Given the description of an element on the screen output the (x, y) to click on. 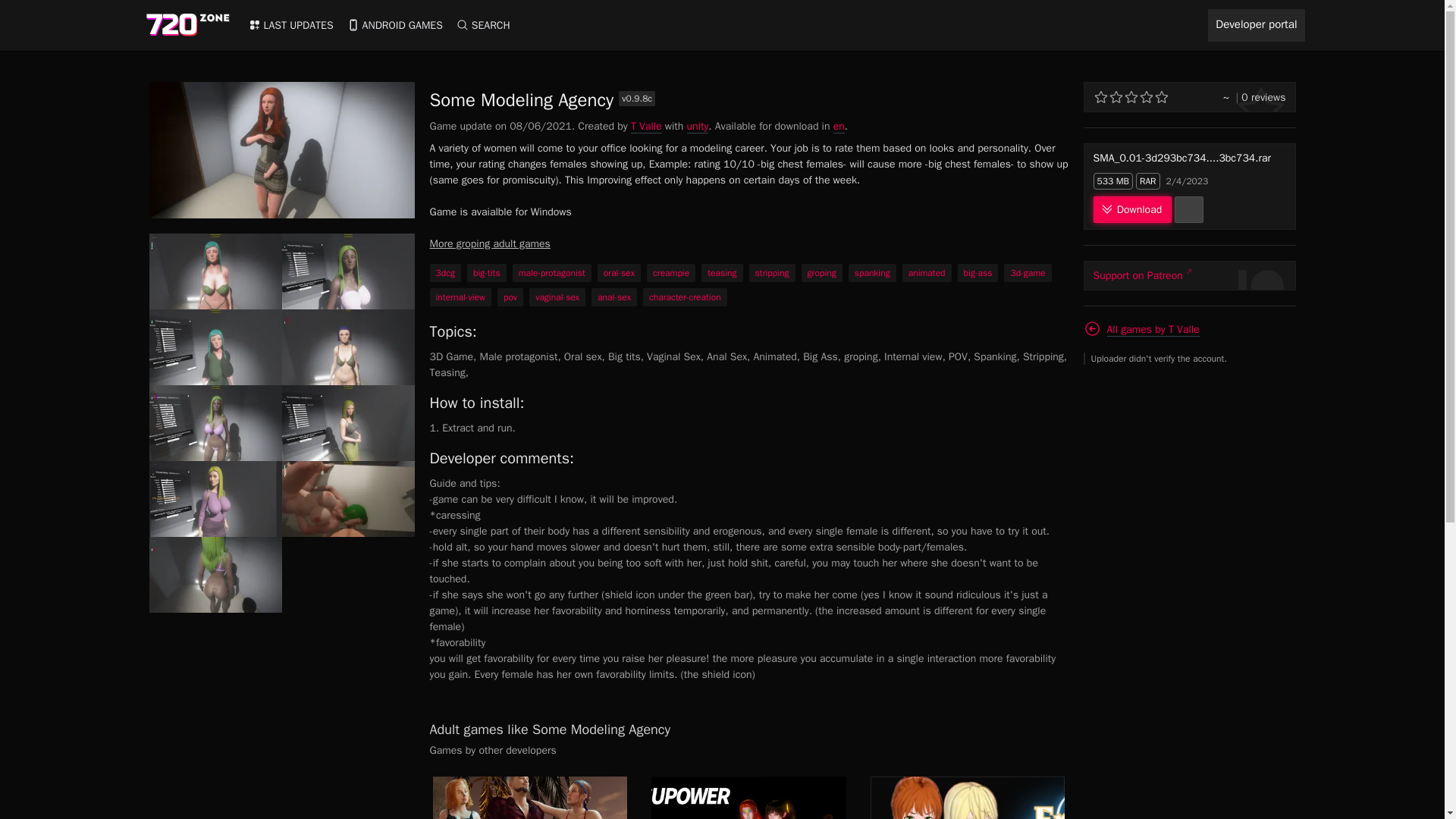
Supower (747, 797)
stripping (771, 272)
anal-sex (614, 297)
More groping adult games (489, 242)
Some Modeling Agency screenshot (348, 422)
internal-view (459, 297)
Endless Eden (967, 797)
DeeDee's Home Episode (529, 797)
DeeDee's Home (529, 797)
big-tits (486, 272)
